Given the description of an element on the screen output the (x, y) to click on. 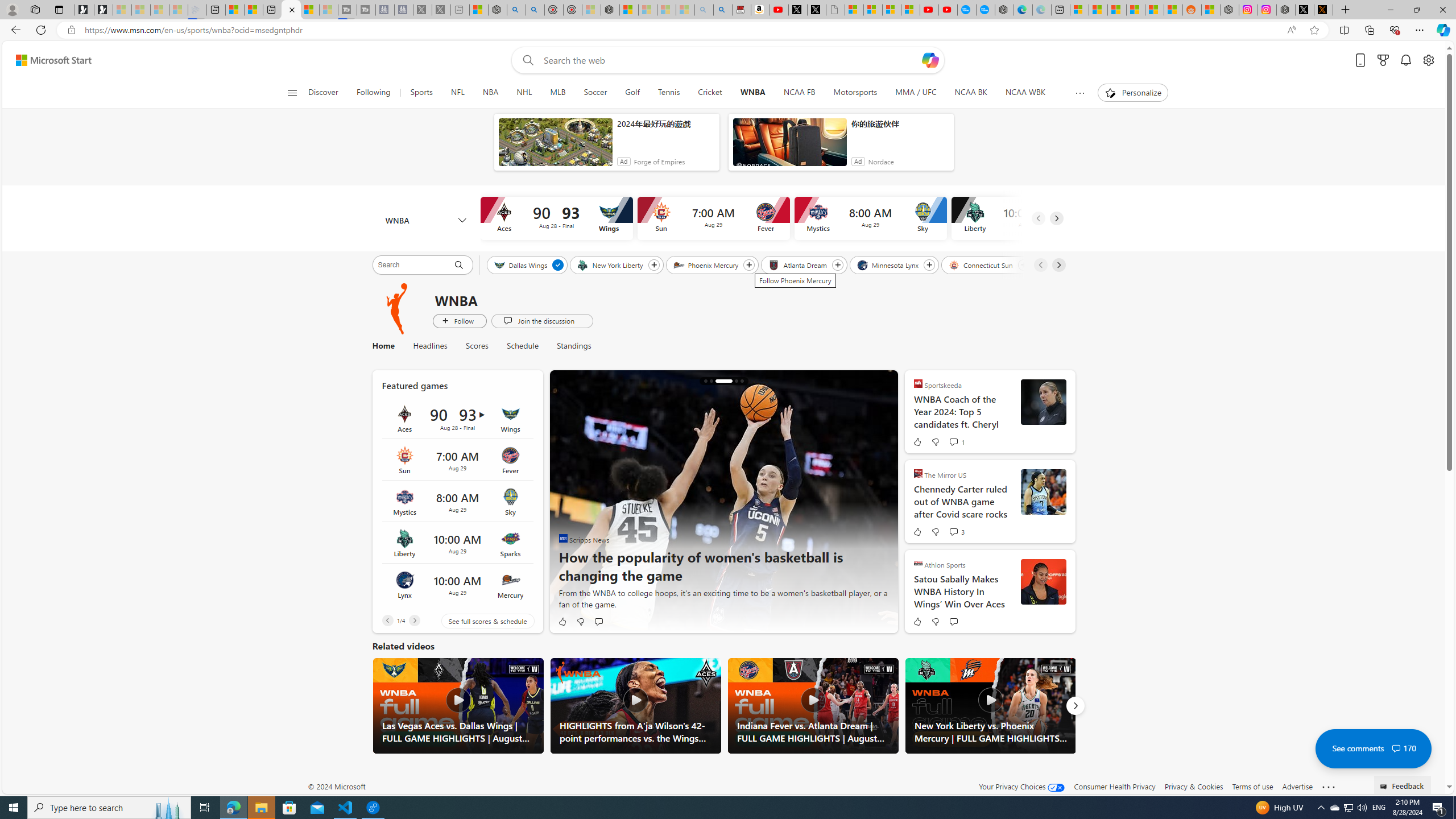
See full scores & schedule (478, 620)
Open settings (1427, 60)
MLB (558, 92)
Forge of Empires (658, 161)
Class: around-the-league-card (456, 584)
